Given the description of an element on the screen output the (x, y) to click on. 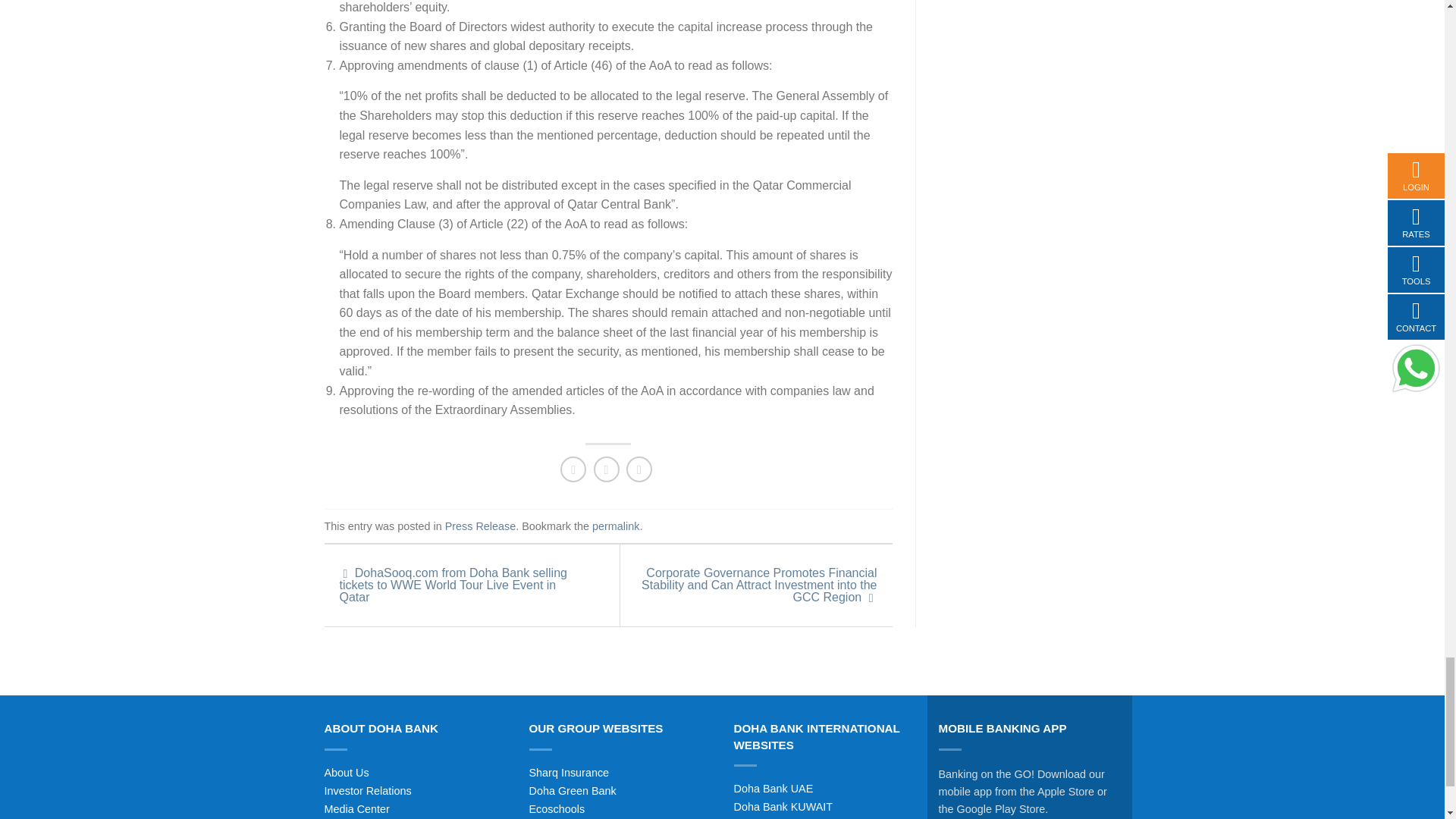
Press Release (480, 526)
permalink (615, 526)
